Given the description of an element on the screen output the (x, y) to click on. 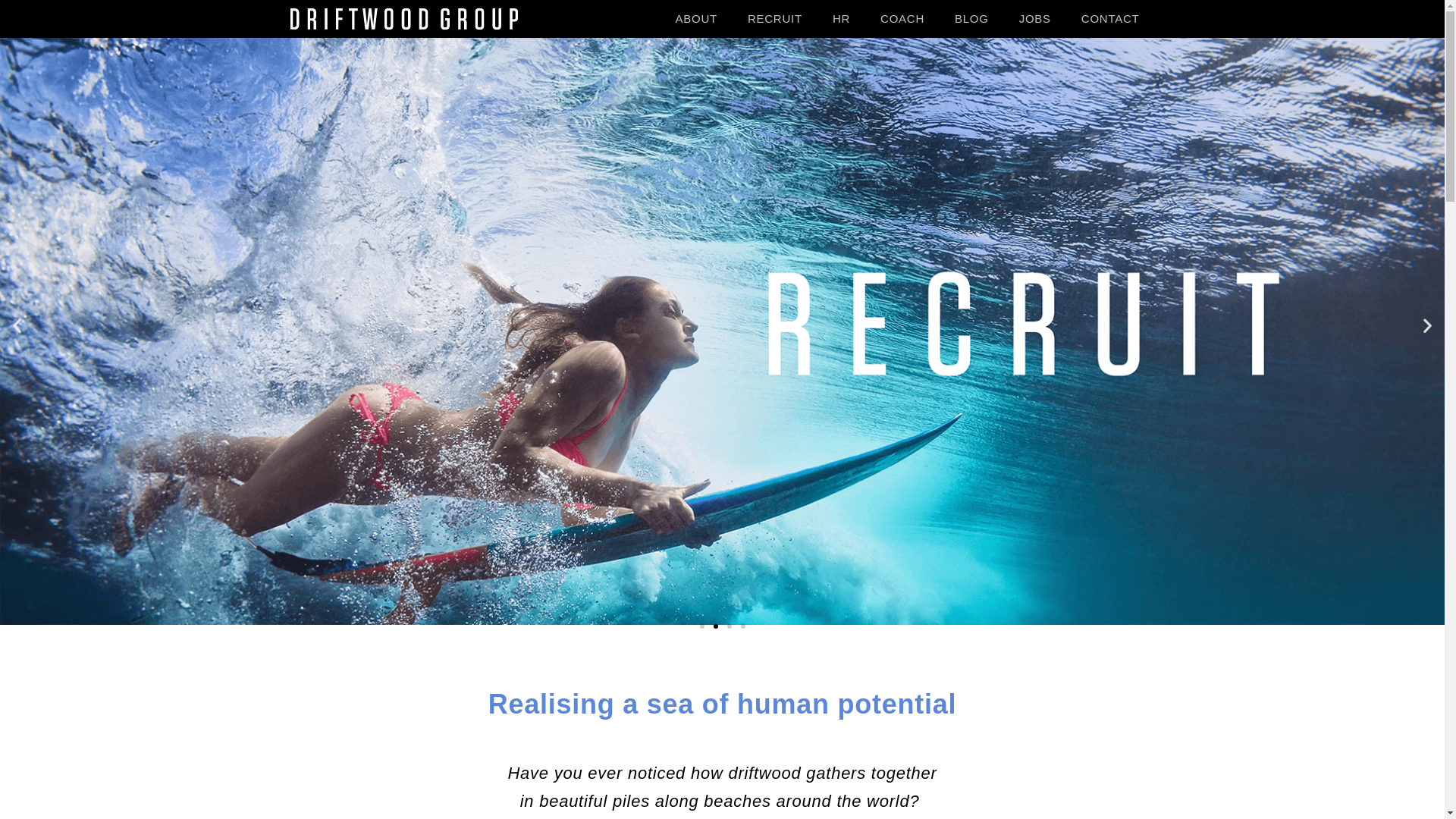
RECRUIT Element type: text (774, 18)
CONTACT Element type: text (1110, 18)
HR Element type: text (841, 18)
BLOG Element type: text (971, 18)
COACH Element type: text (902, 18)
JOBS Element type: text (1035, 18)
ABOUT Element type: text (696, 18)
